Given the description of an element on the screen output the (x, y) to click on. 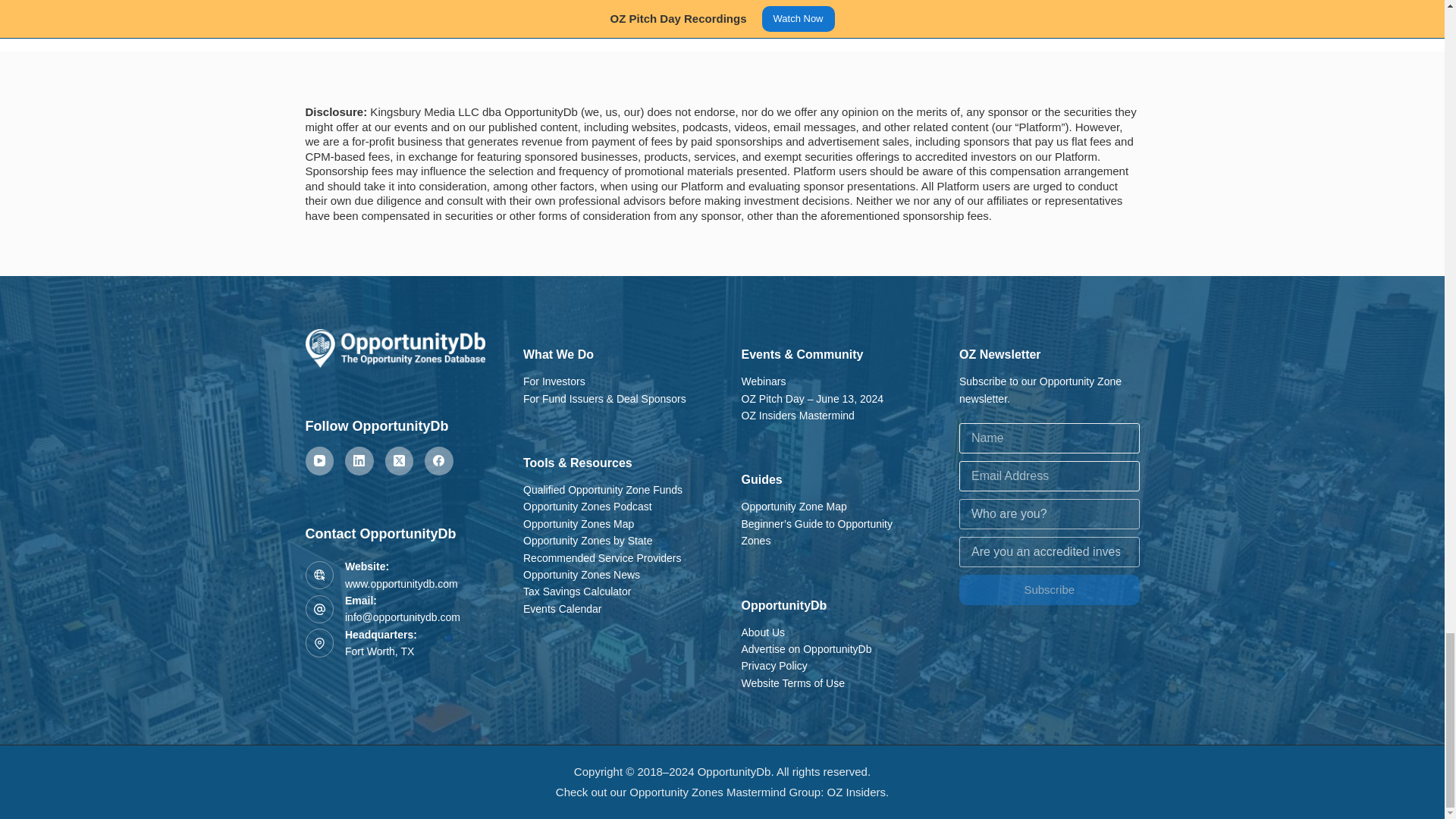
Subscribe (1049, 589)
3rd party ad content (721, 18)
